Given the description of an element on the screen output the (x, y) to click on. 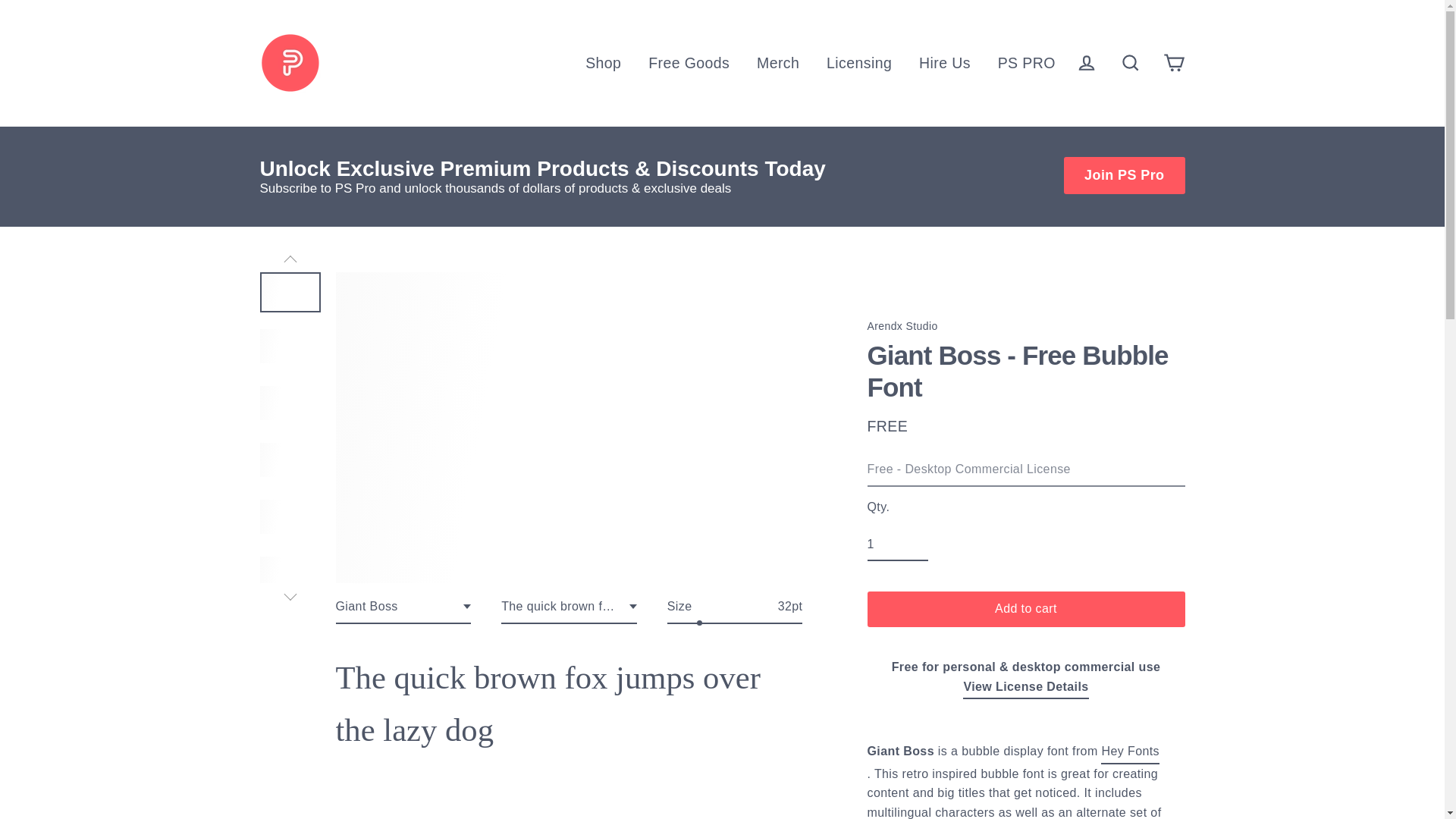
32 (734, 623)
Pixel Surplus Licensing (1024, 688)
1 (897, 544)
